Given the description of an element on the screen output the (x, y) to click on. 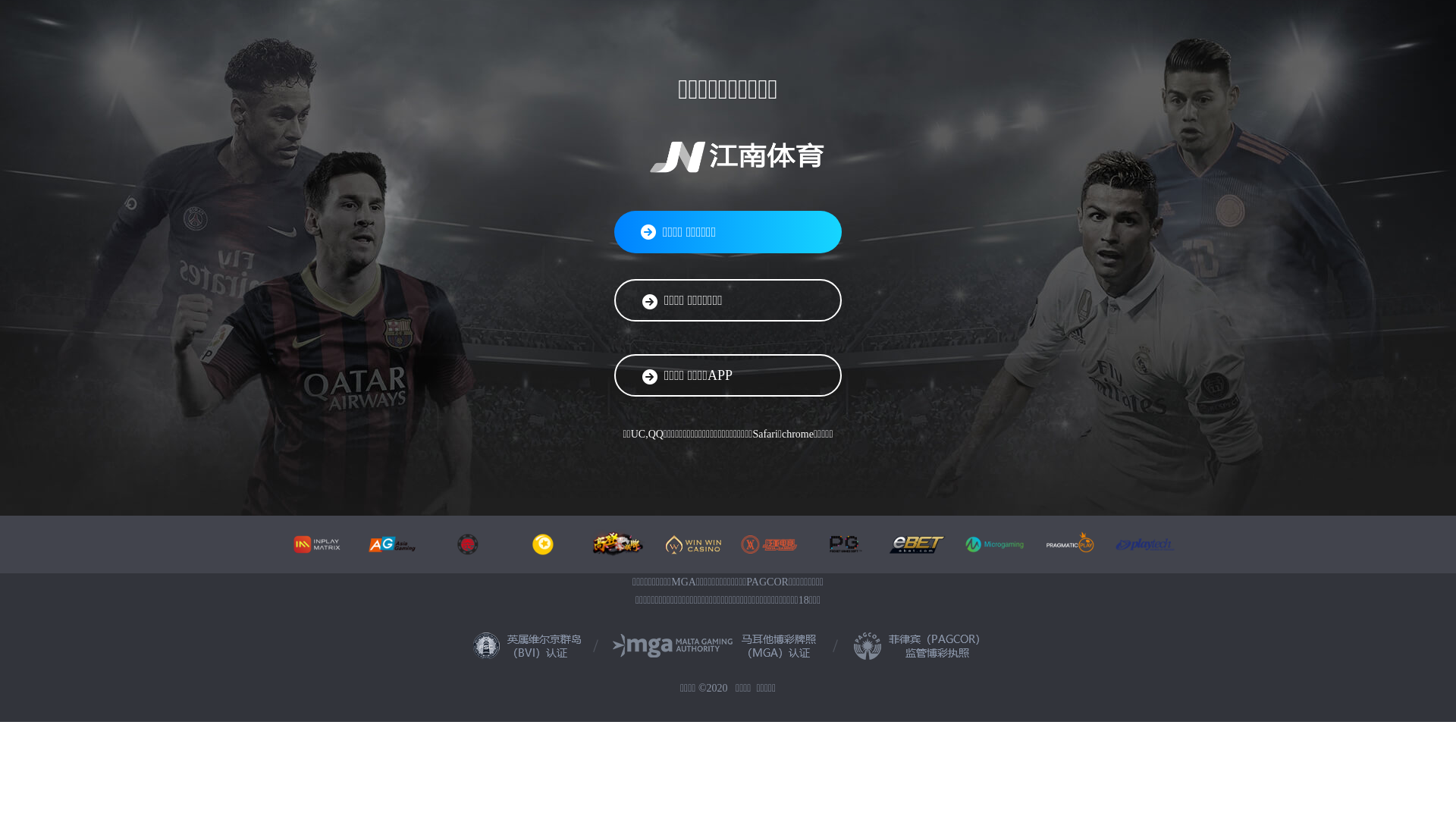
EN Element type: text (73, 178)
CONTACT Element type: text (34, 178)
